Given the description of an element on the screen output the (x, y) to click on. 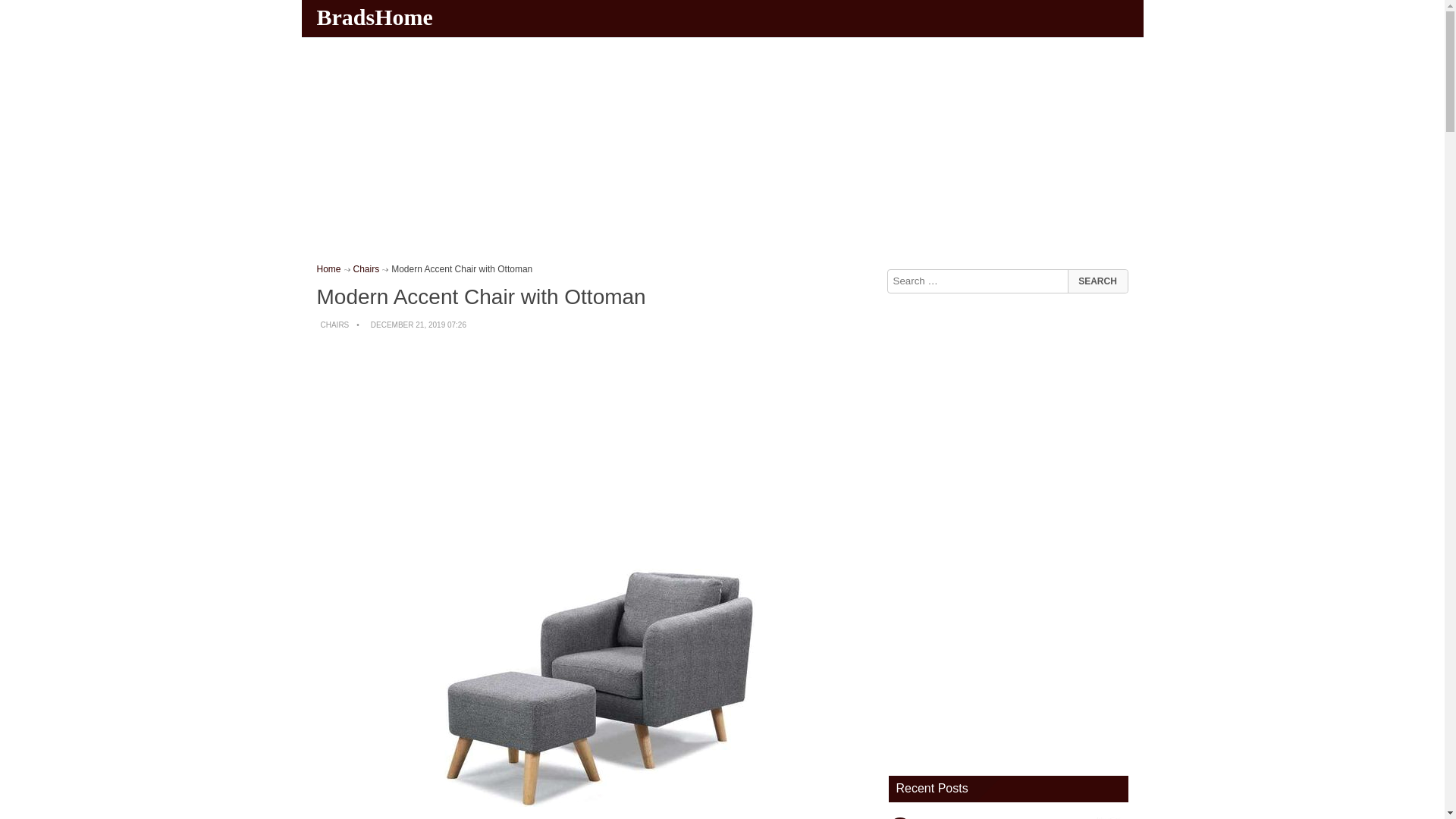
BradsHome (376, 16)
Search (1096, 281)
Search (1096, 281)
Home (328, 268)
CHAIRS (334, 325)
Advertisement (595, 449)
Chairs (366, 268)
